Given the description of an element on the screen output the (x, y) to click on. 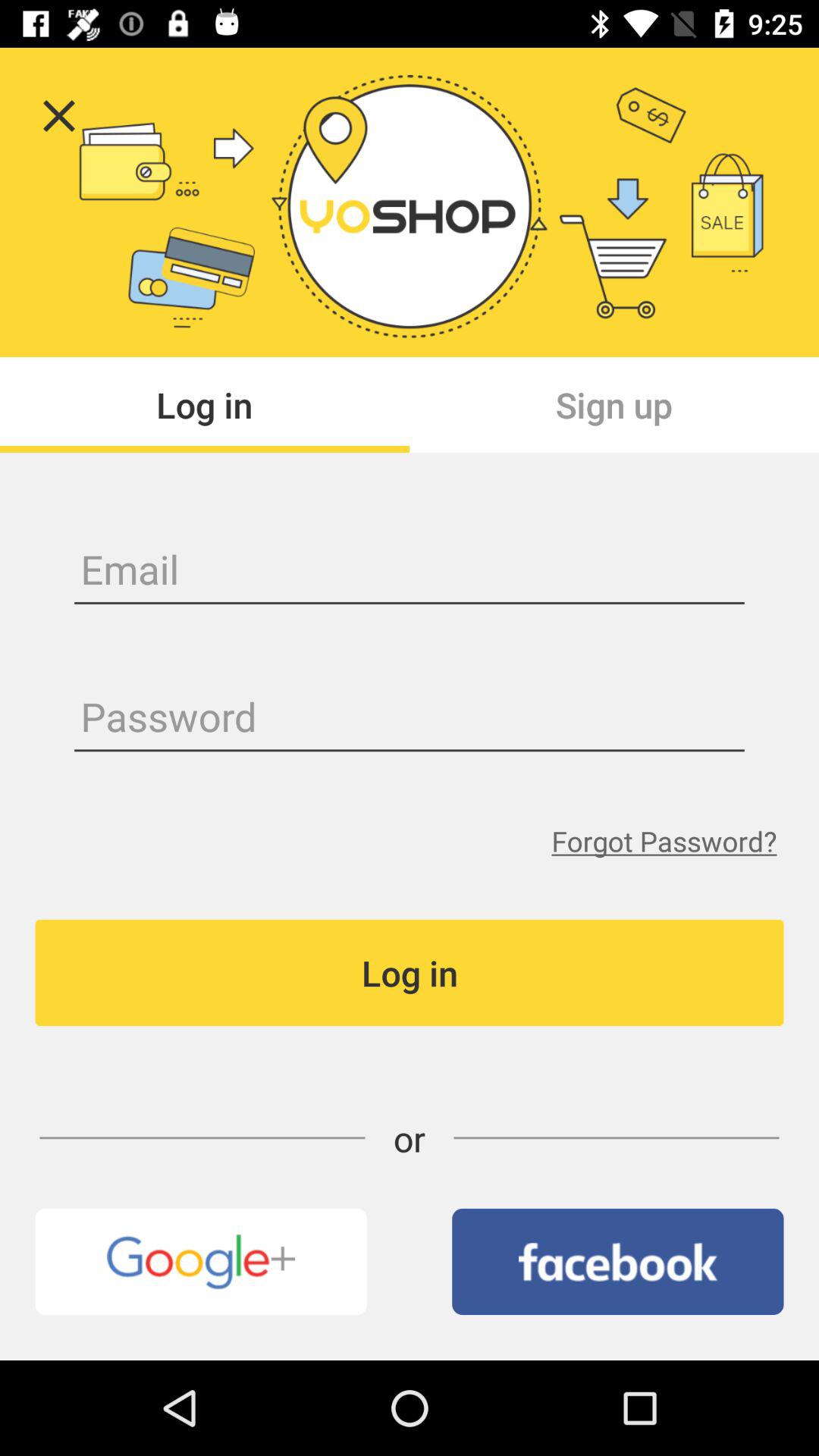
password (409, 719)
